Given the description of an element on the screen output the (x, y) to click on. 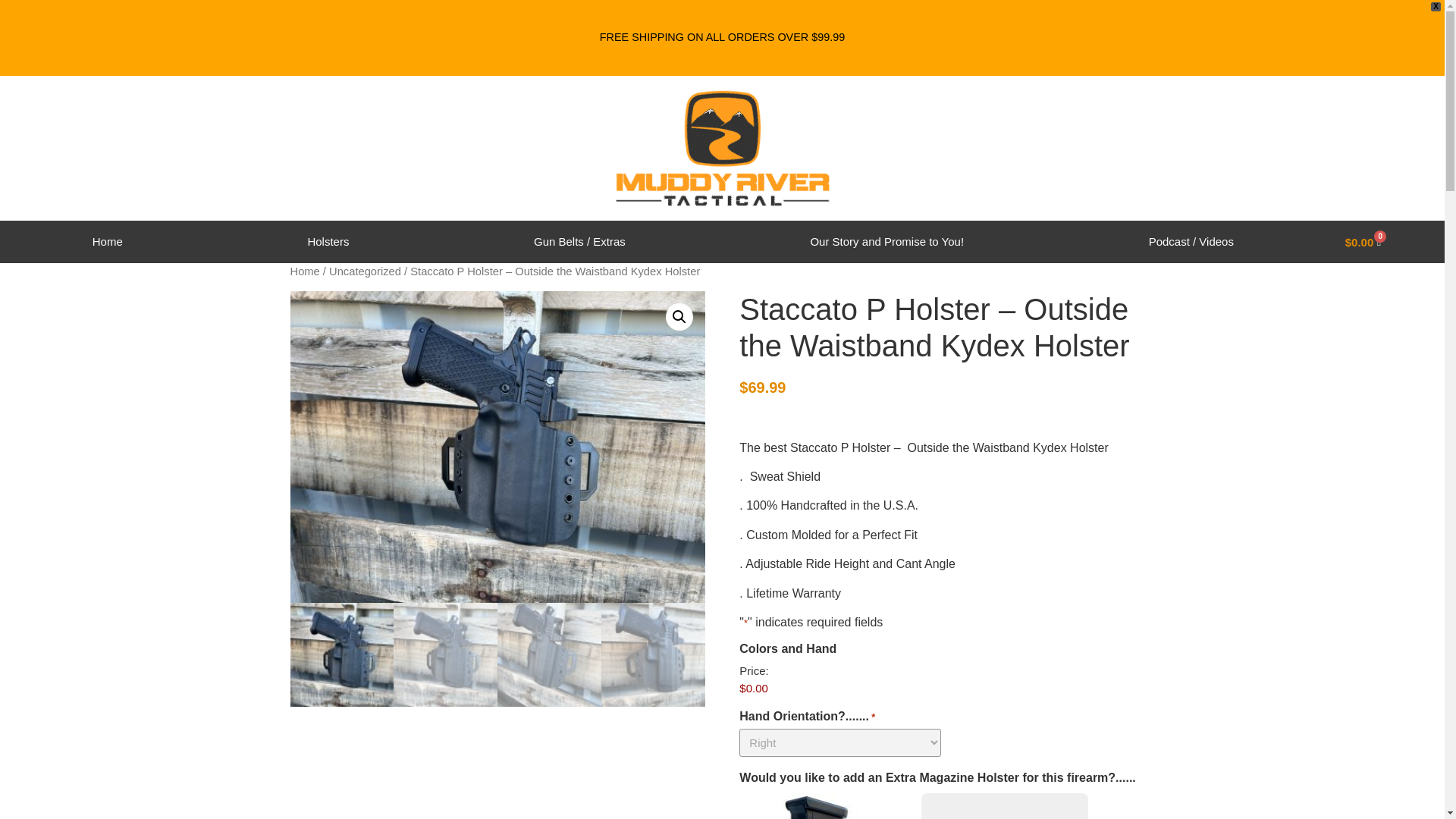
Holsters (328, 241)
Our Story and Promise to You! (887, 241)
Uncategorized (365, 271)
Home (107, 241)
Home (303, 271)
